Given the description of an element on the screen output the (x, y) to click on. 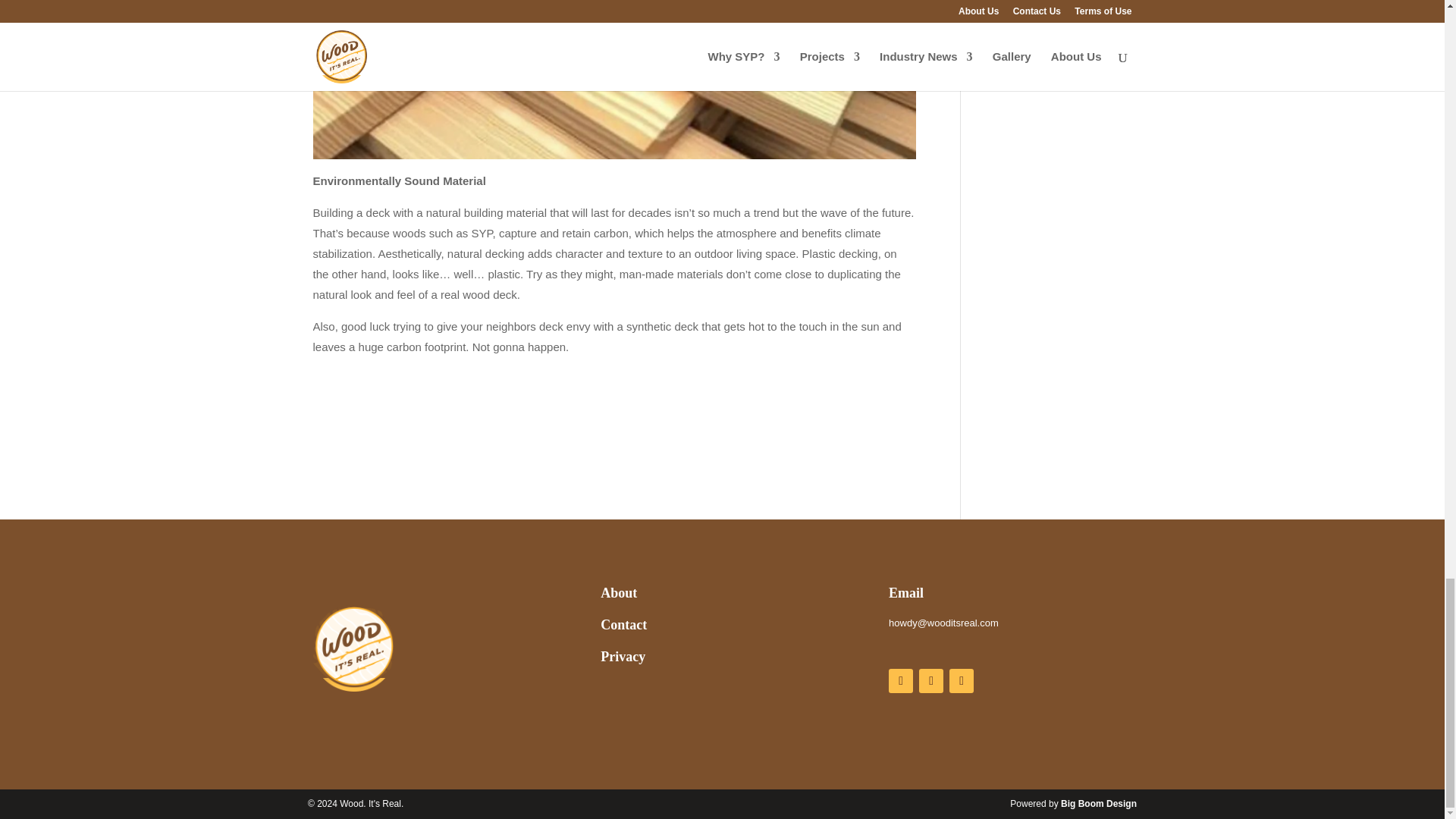
Follow on Instagram (930, 680)
logo-wooditsreal (353, 648)
Follow on Facebook (900, 680)
Follow on Pinterest (961, 680)
